Given the description of an element on the screen output the (x, y) to click on. 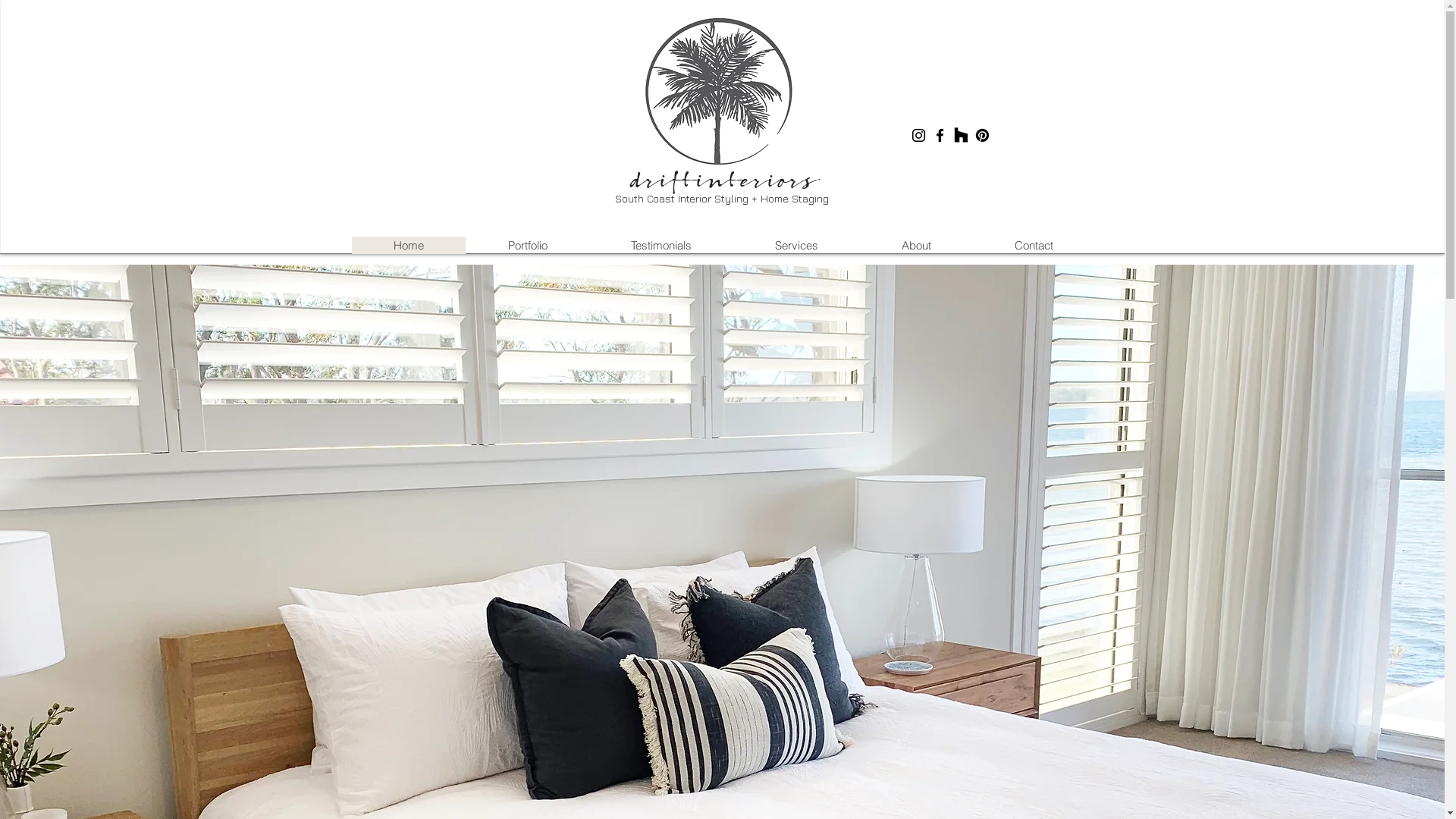
Contact Element type: text (1033, 245)
PalmStamp.png Element type: hover (718, 92)
About Element type: text (915, 245)
Home Element type: text (408, 245)
Services Element type: text (795, 245)
Portfolio Element type: text (527, 245)
Testimonials Element type: text (660, 245)
